Given the description of an element on the screen output the (x, y) to click on. 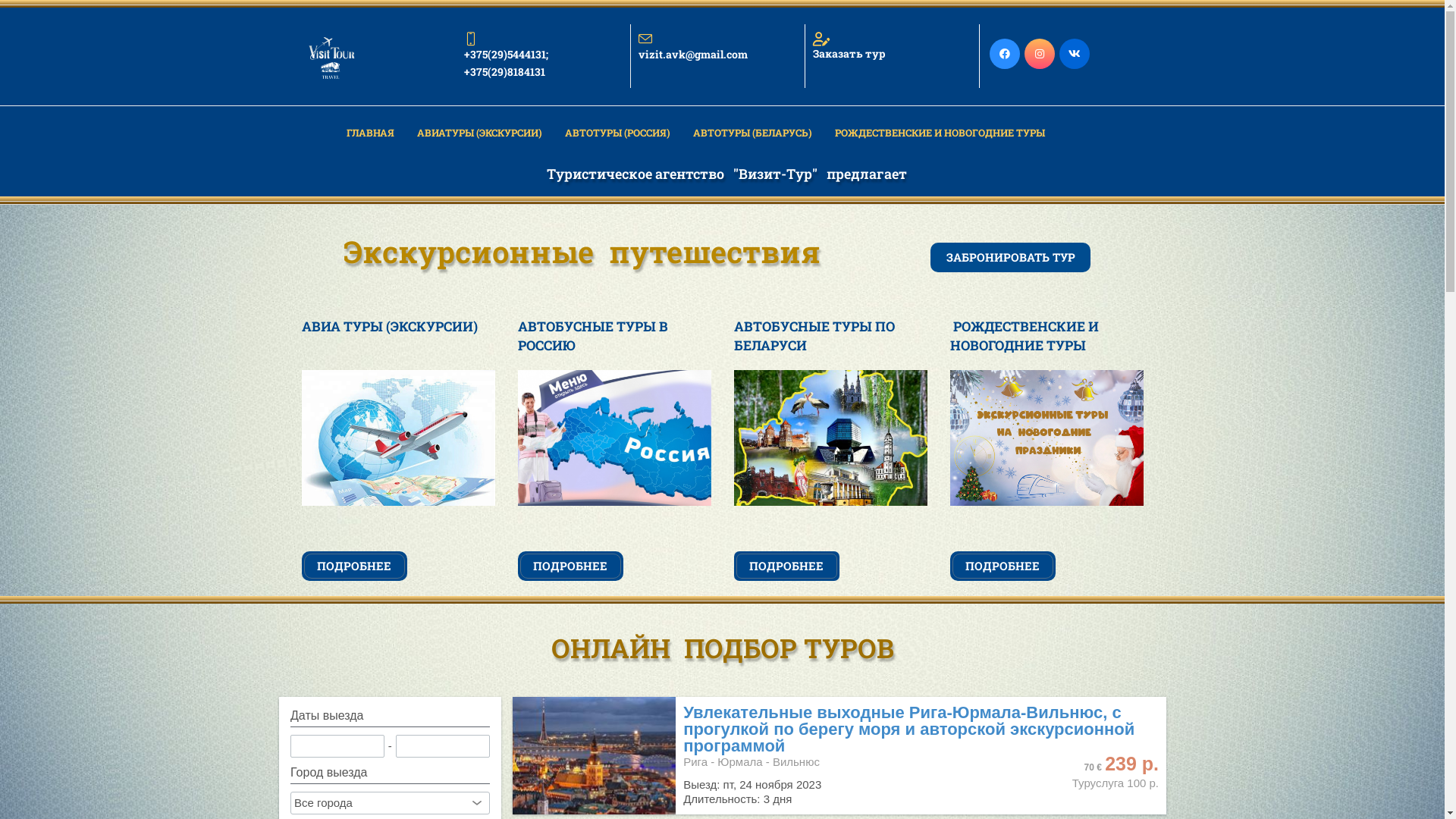
vizit.avk@gmail.com Element type: text (717, 47)
+375(29)5444131; +375(29)8184131 Element type: text (543, 55)
